Given the description of an element on the screen output the (x, y) to click on. 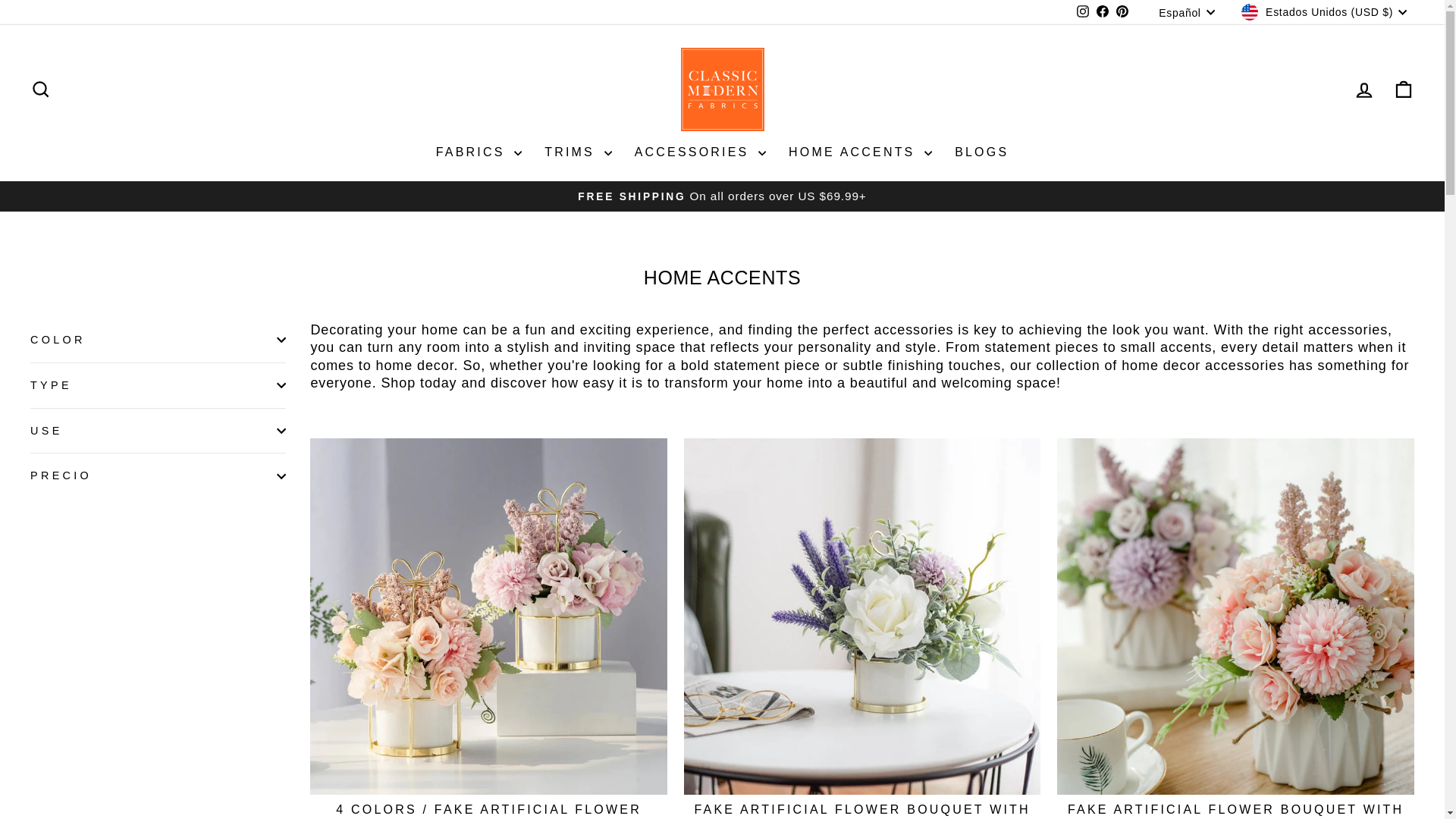
ACCOUNT (1364, 89)
ICON-SEARCH (40, 88)
ICON-BAG-MINIMAL (1403, 88)
instagram (1083, 10)
